Given the description of an element on the screen output the (x, y) to click on. 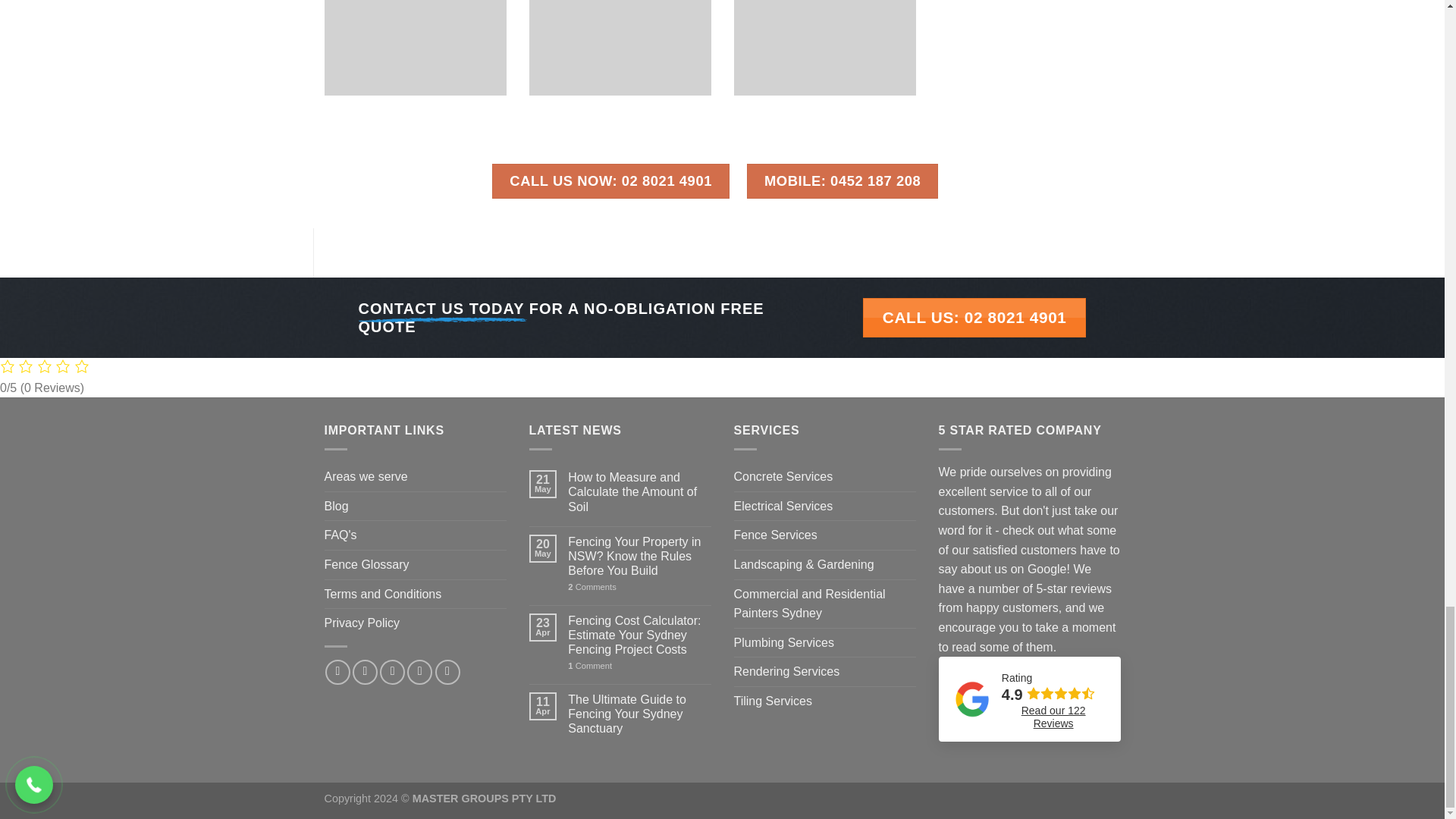
Follow on Instagram (364, 672)
Follow on Twitter (392, 672)
Follow on Facebook (337, 672)
